Given the description of an element on the screen output the (x, y) to click on. 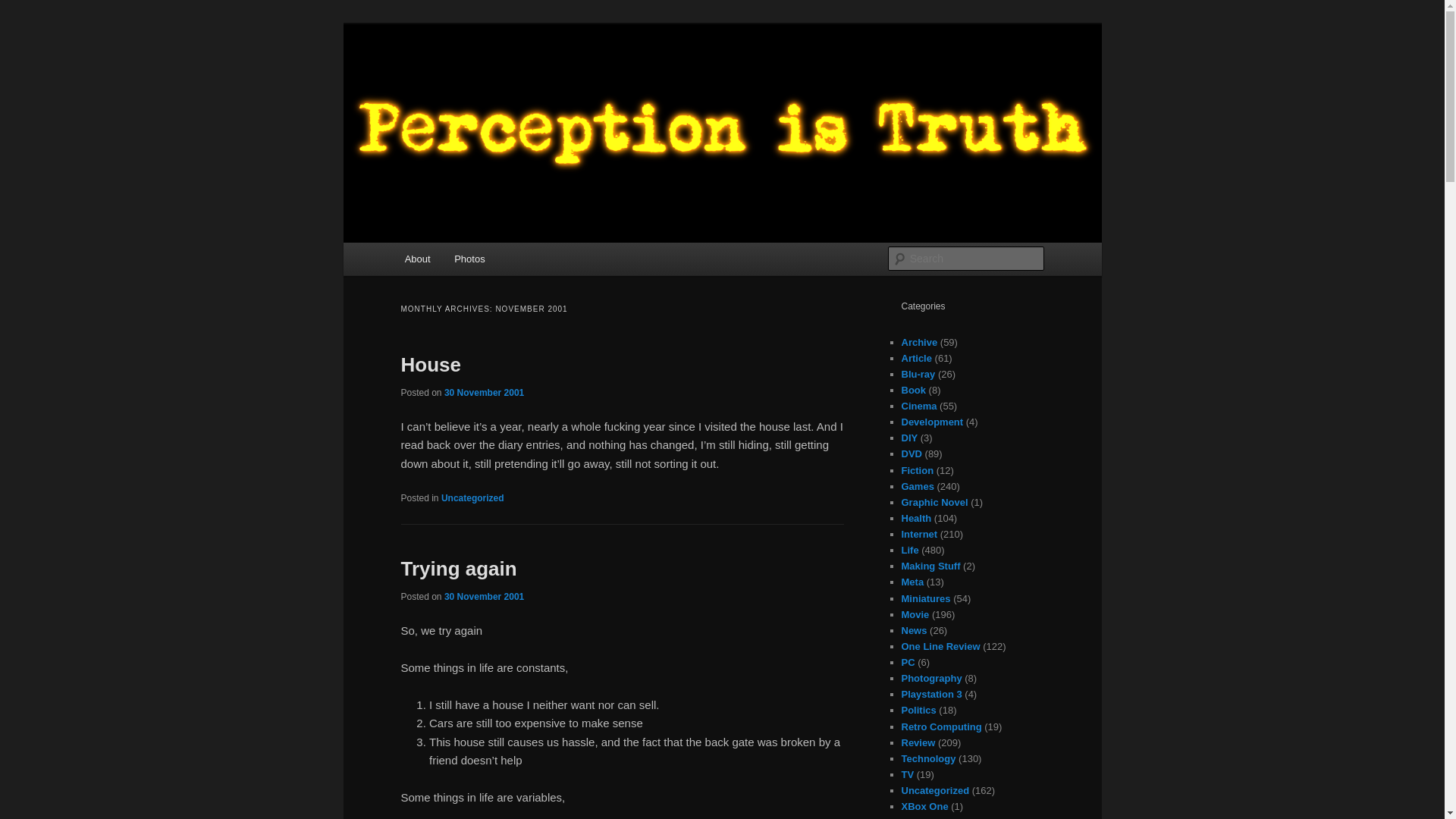
Cinema (918, 405)
Games (917, 486)
Life (909, 550)
Photography (930, 677)
Photos (469, 258)
DIY (909, 437)
Uncategorized (472, 498)
Fiction (917, 470)
Miniatures (925, 598)
Trying again (458, 568)
